Given the description of an element on the screen output the (x, y) to click on. 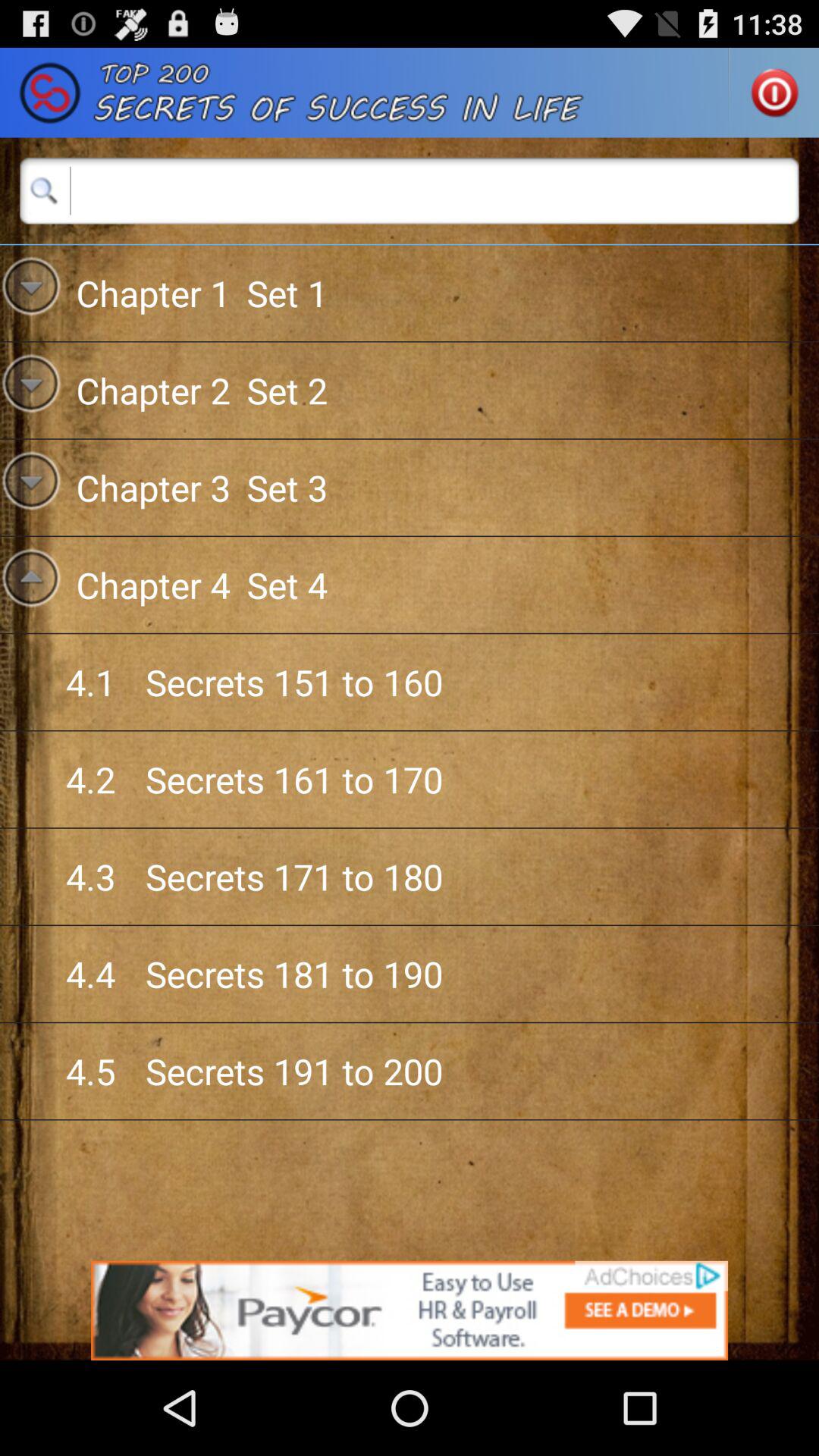
advertisement (409, 1310)
